Given the description of an element on the screen output the (x, y) to click on. 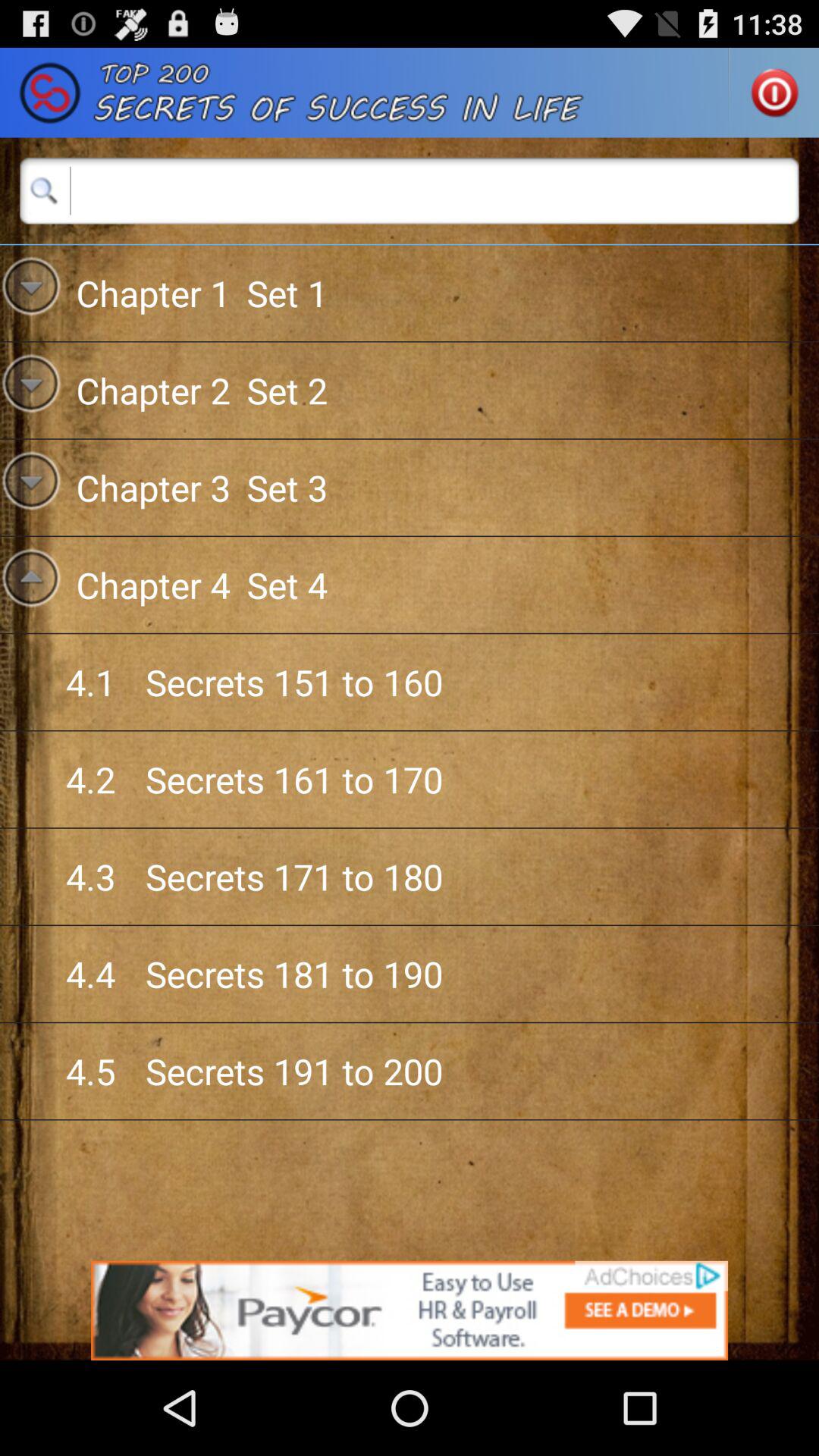
advertisement (409, 1310)
